Given the description of an element on the screen output the (x, y) to click on. 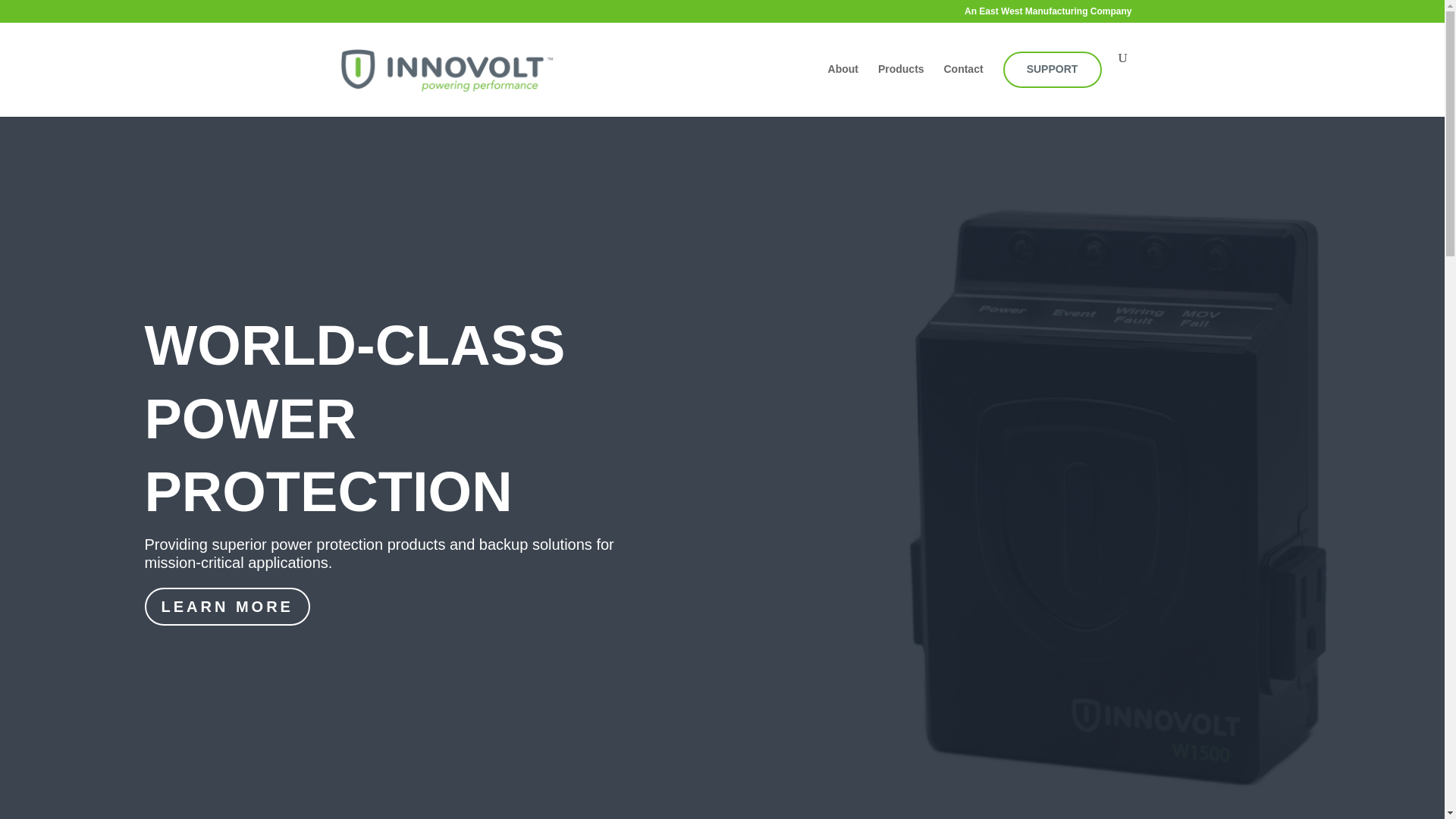
An East West Manufacturing Company (1047, 14)
LEARN MORE (226, 606)
Contact (962, 83)
SUPPORT (1051, 84)
Products (900, 83)
